Given the description of an element on the screen output the (x, y) to click on. 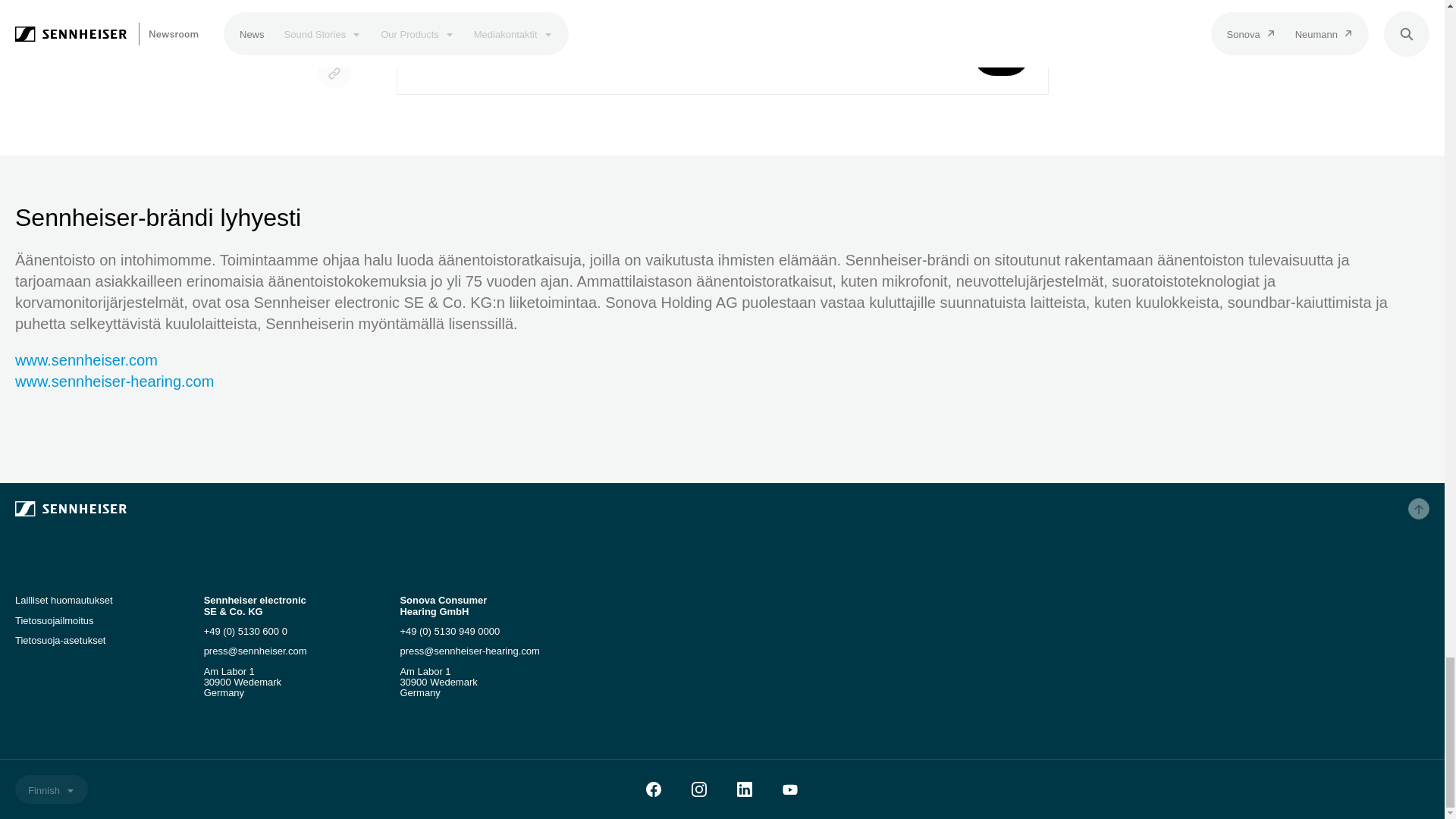
www.sennheiser.com (85, 360)
www.sennheiser-hearing.com (114, 381)
Youtube (789, 789)
Tietosuojailmoitus (54, 620)
Instagram (699, 789)
LinkedIn (744, 789)
Tietosuoja-asetukset (59, 640)
Lailliset huomautukset (63, 600)
Sennheiser (250, 508)
Facebook (653, 789)
